Given the description of an element on the screen output the (x, y) to click on. 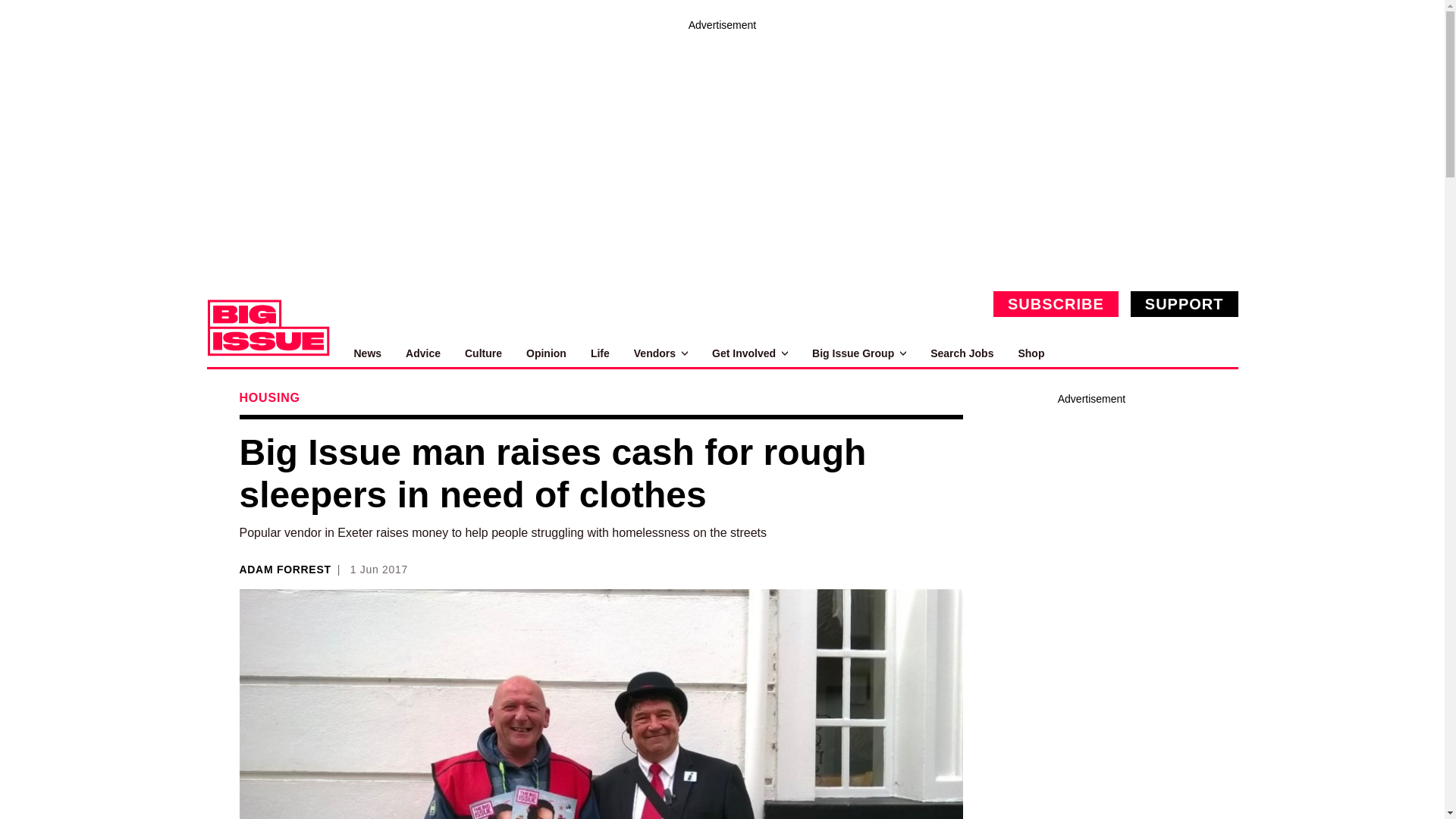
Big Issue Group (858, 353)
Advice (423, 353)
Subscribe (1055, 303)
Culture (483, 353)
Search Jobs (961, 353)
SUPPORT (1185, 303)
Vendors (660, 353)
Support (1185, 303)
Opinion (545, 353)
Get Involved (749, 353)
